Given the description of an element on the screen output the (x, y) to click on. 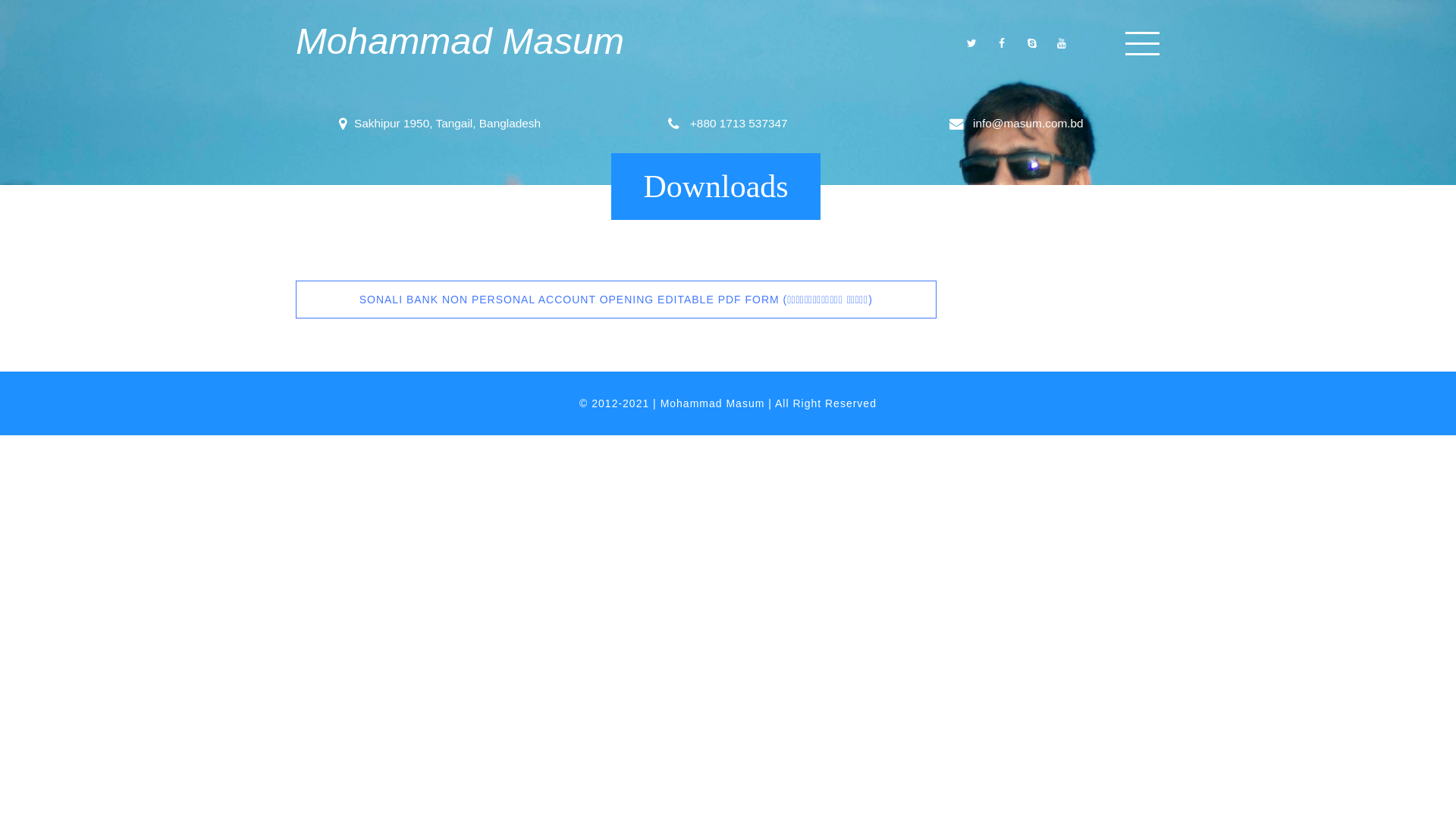
info@masum.com.bd Element type: text (1026, 122)
Mohammad Masum Element type: text (459, 40)
